Given the description of an element on the screen output the (x, y) to click on. 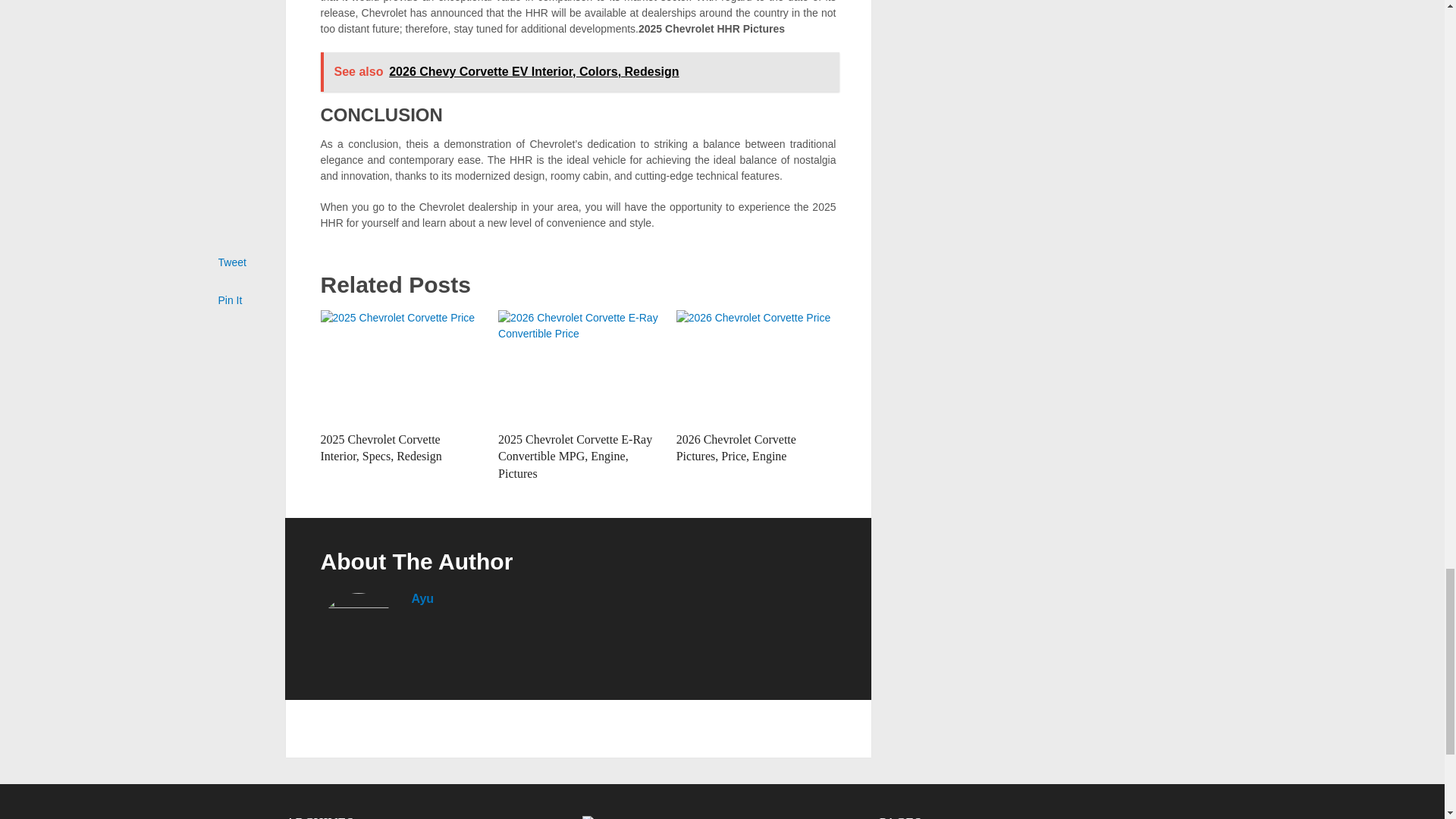
2025 Chevrolet Corvette Interior, Specs, Redesign (380, 447)
2025 Chevrolet Corvette Interior, Specs, Redesign (400, 367)
2025 Chevrolet Corvette Interior, Specs, Redesign (380, 447)
2026 Chevrolet Corvette Pictures, Price, Engine (756, 367)
See also  2026 Chevy Corvette EV Interior, Colors, Redesign (579, 71)
